Given the description of an element on the screen output the (x, y) to click on. 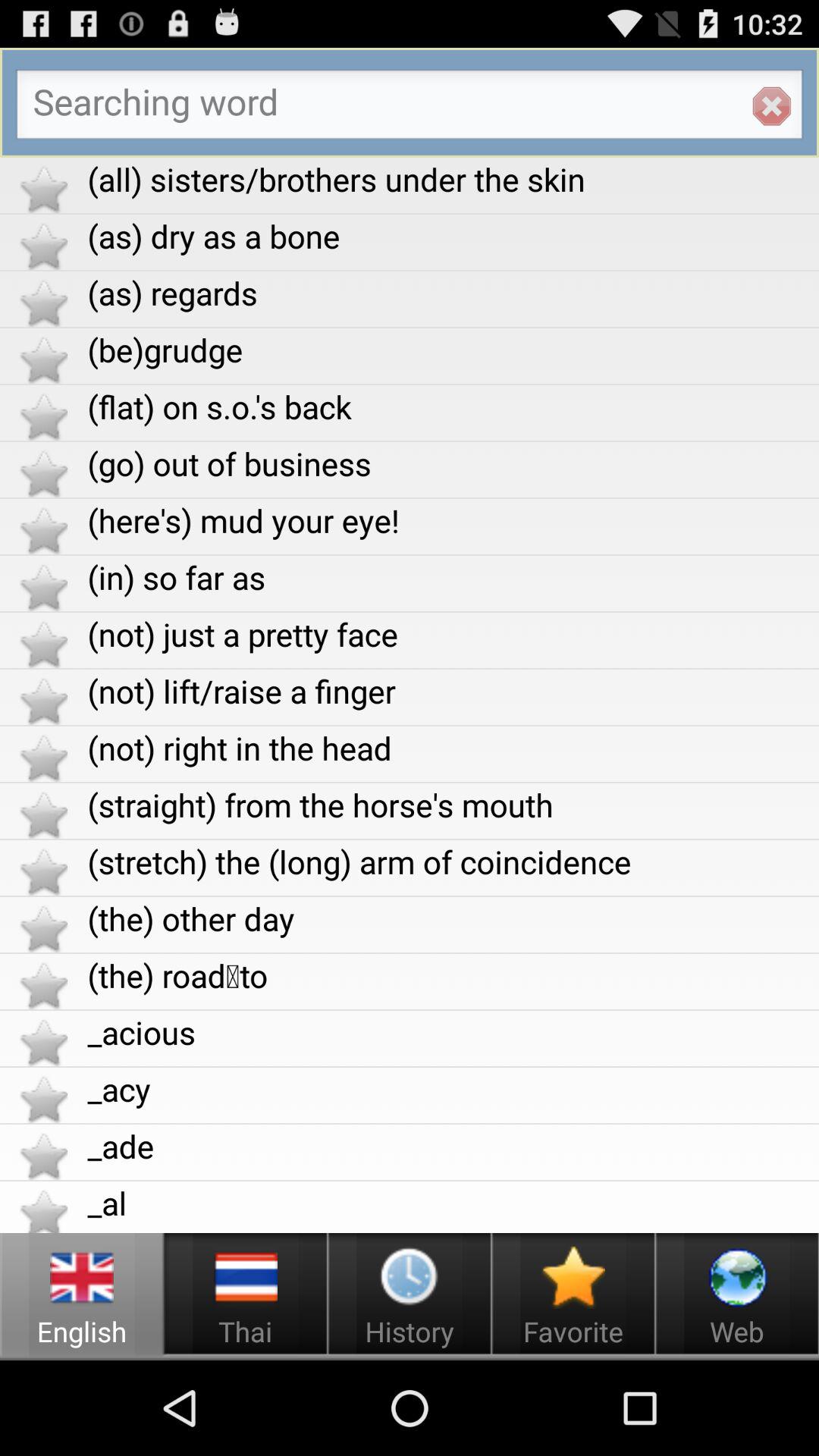
go to search (409, 108)
